Given the description of an element on the screen output the (x, y) to click on. 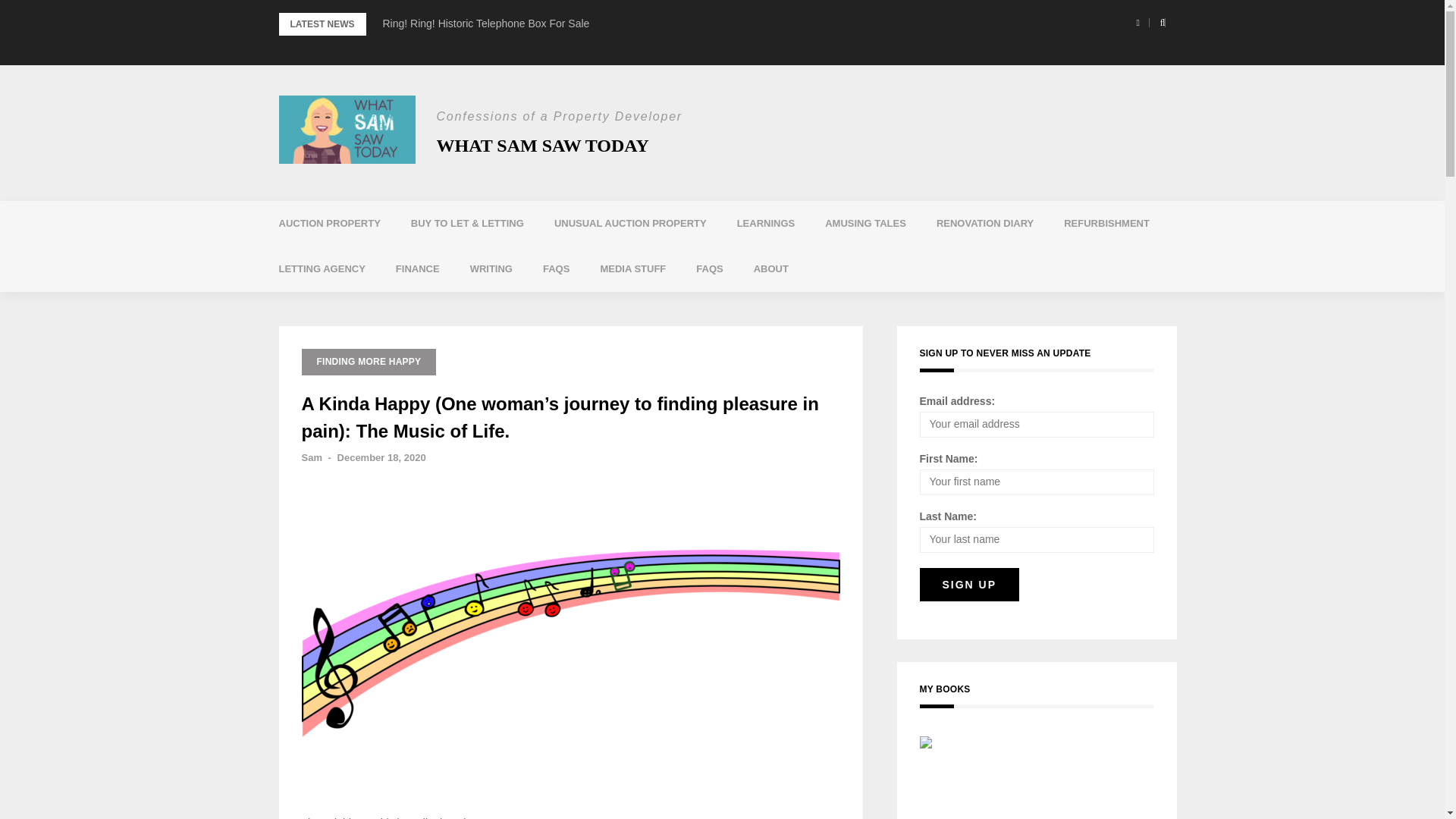
AUCTION PROPERTY (329, 223)
FINANCE (417, 268)
WHAT SAM SAW TODAY (542, 145)
Sign up (968, 584)
LETTING AGENCY (321, 268)
RENOVATION DIARY (984, 223)
LEARNINGS (766, 223)
UNUSUAL AUCTION PROPERTY (630, 223)
FAQS (709, 268)
Unusual Auction Property (630, 223)
